Given the description of an element on the screen output the (x, y) to click on. 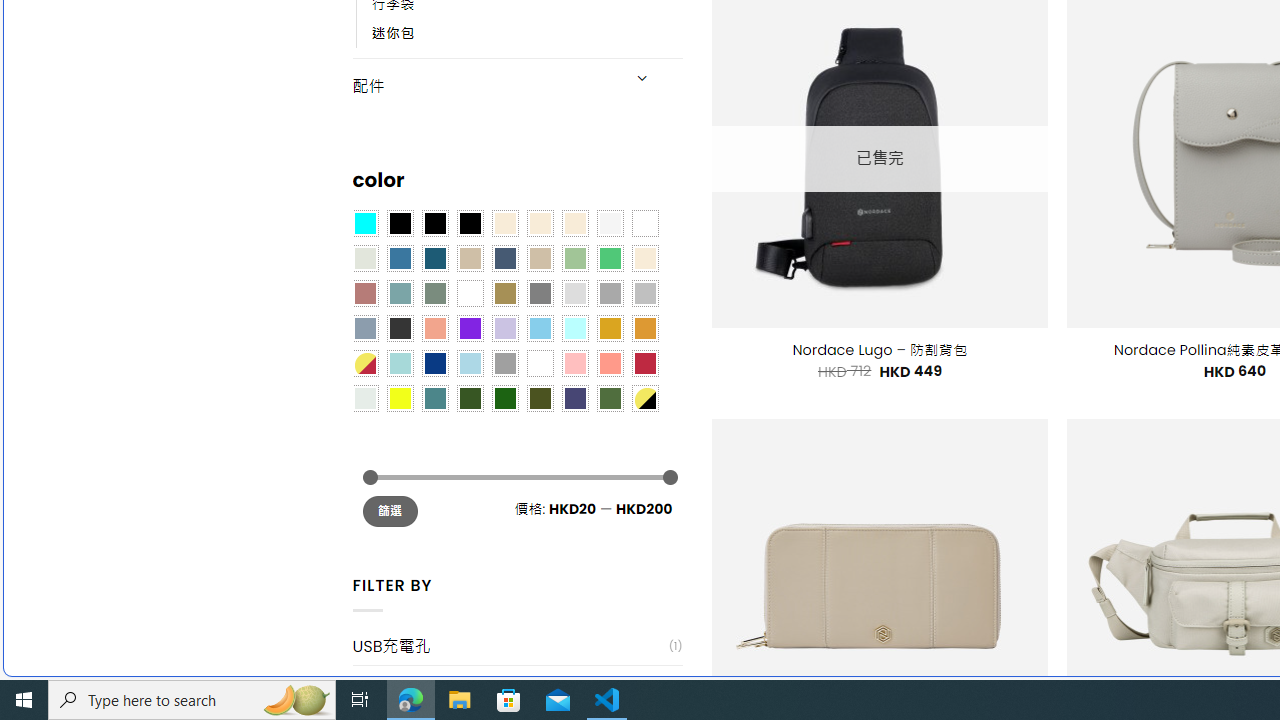
Dull Nickle (364, 398)
Cream (574, 223)
